Given the description of an element on the screen output the (x, y) to click on. 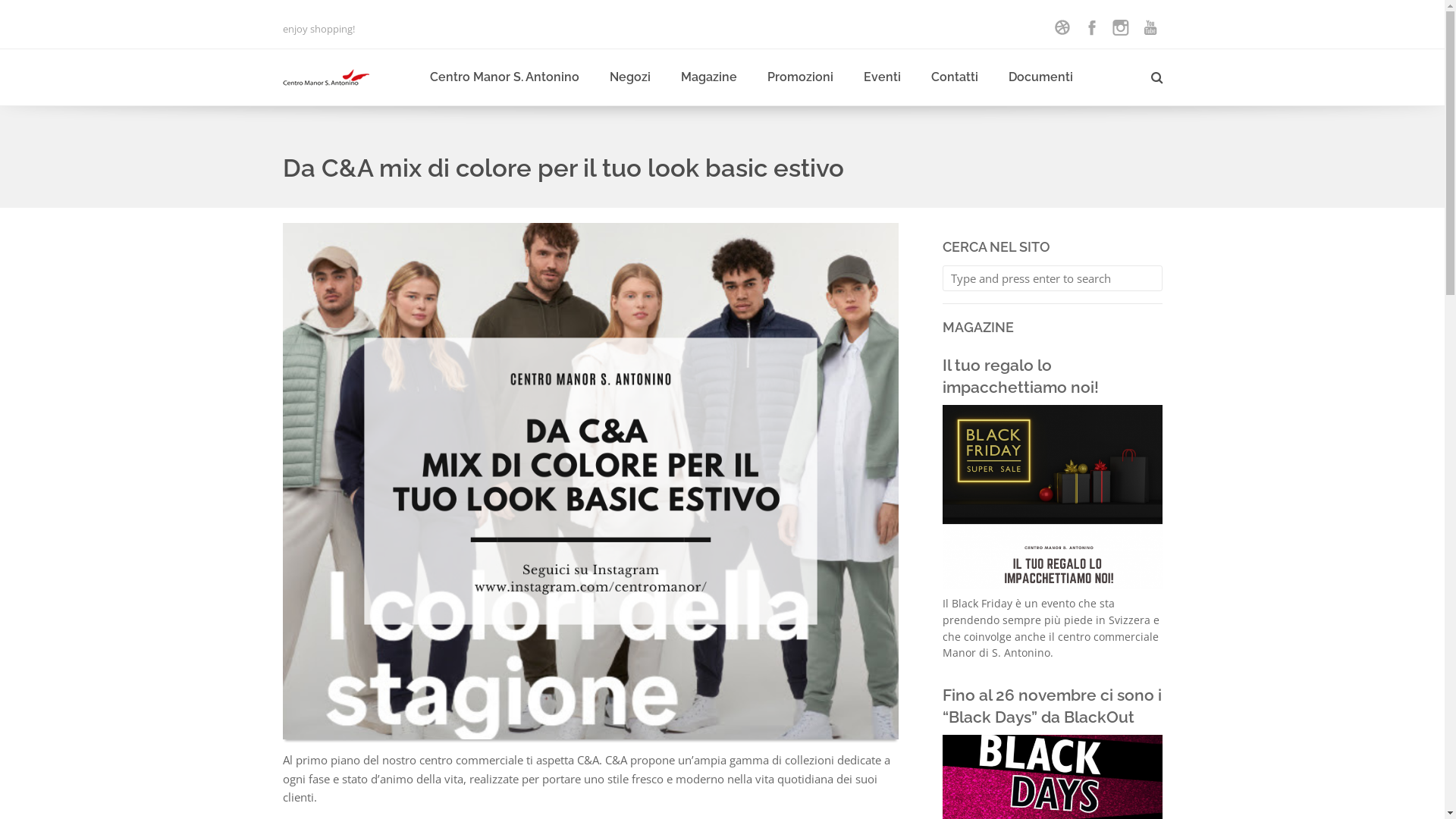
Negozi Element type: text (629, 77)
Documenti Element type: text (1040, 77)
YouTube Element type: hover (1149, 27)
Contatti Element type: text (954, 77)
Il tuo regalo lo impacchettiamo noi! Element type: text (1019, 375)
Facebook Element type: hover (1091, 27)
Instagram Element type: hover (1120, 27)
Dribble Element type: hover (1062, 27)
Centro Manor S. Antonino Element type: text (503, 77)
Promozioni Element type: text (800, 77)
Eventi Element type: text (881, 77)
Magazine Element type: text (708, 77)
